Given the description of an element on the screen output the (x, y) to click on. 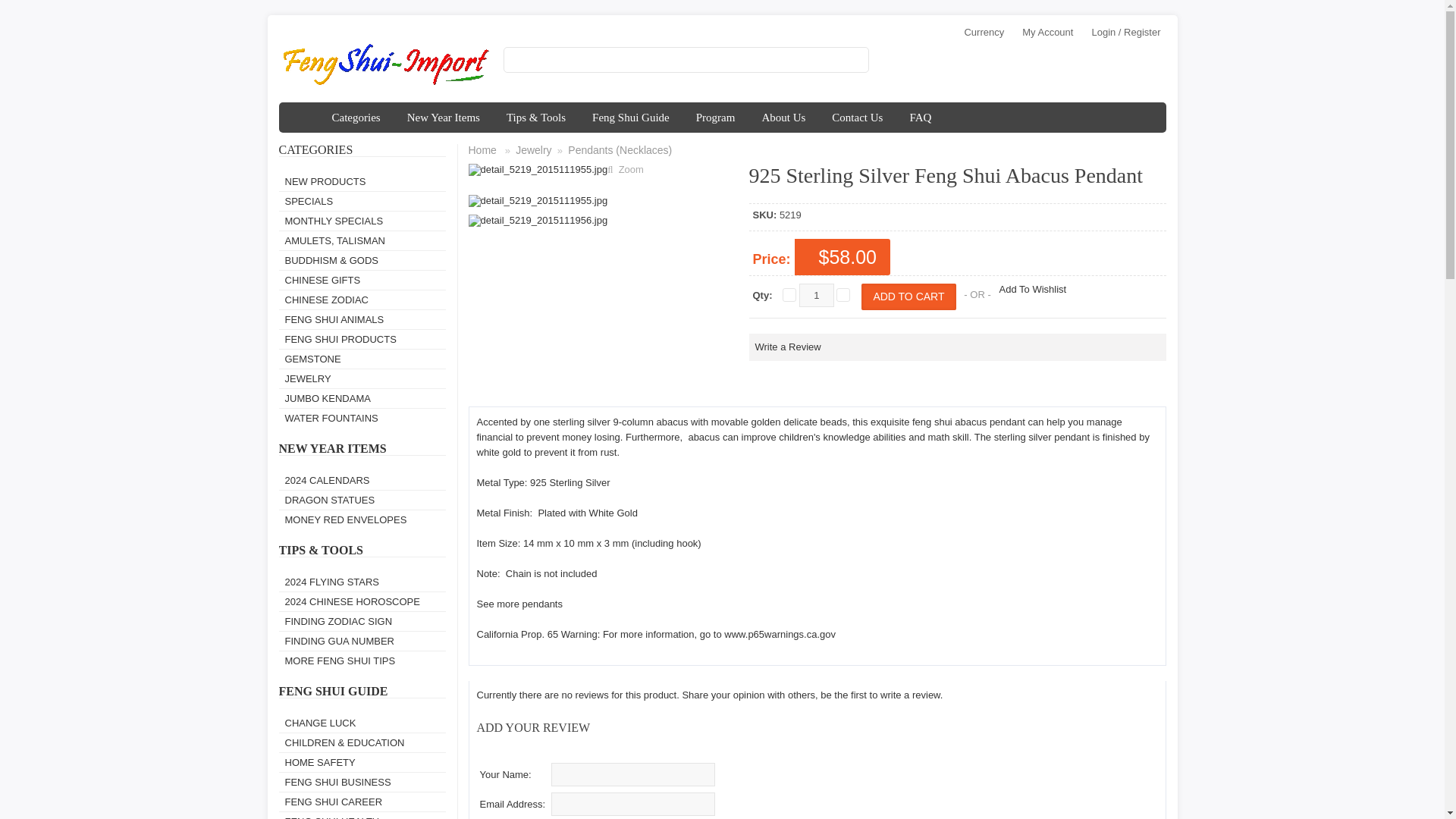
Home (301, 117)
1 (816, 295)
Add To Cart (908, 296)
Categories (355, 117)
Feng Shui Guide (630, 117)
New Year Items (444, 117)
